Given the description of an element on the screen output the (x, y) to click on. 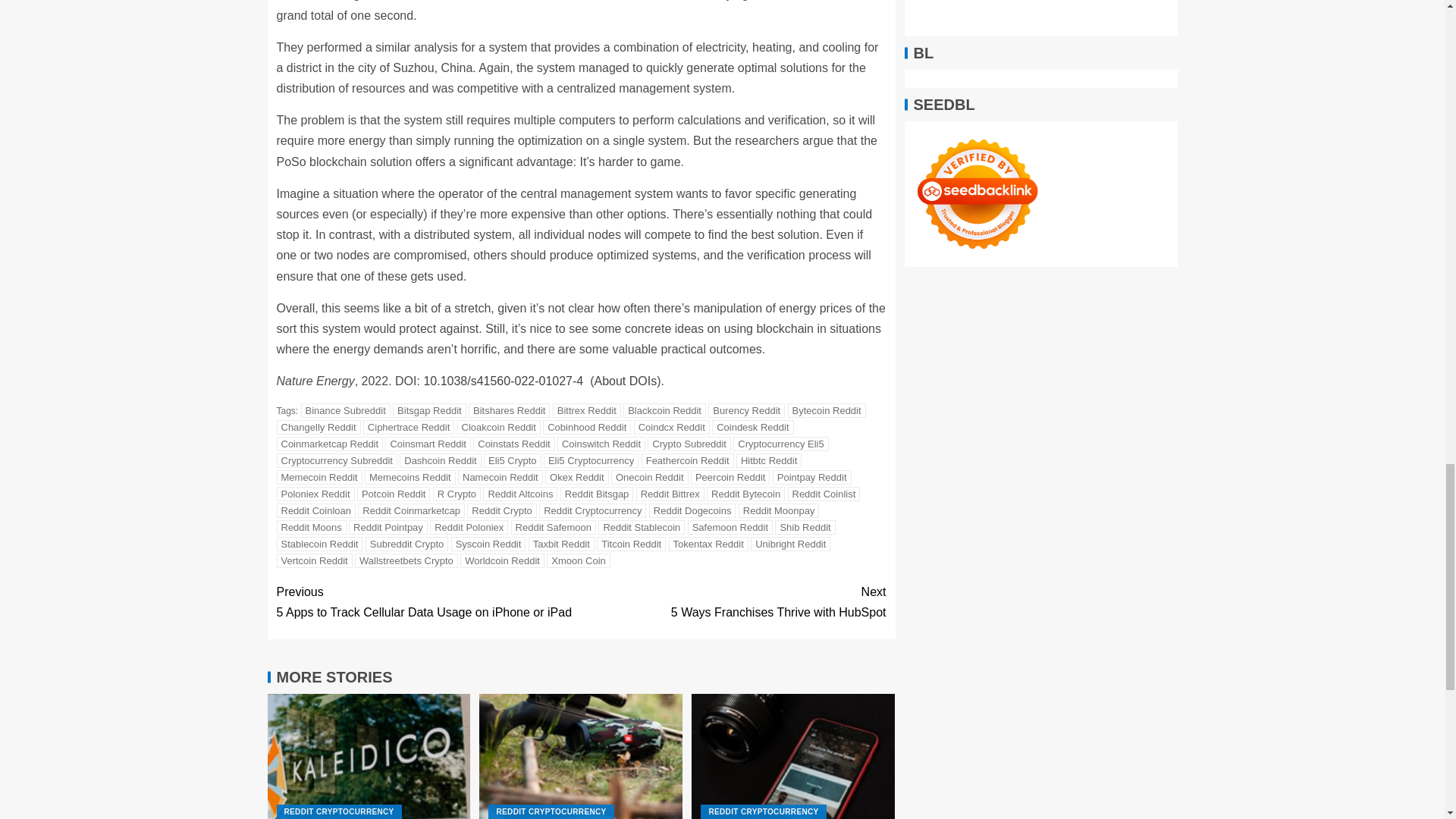
Bitshares Reddit (509, 410)
Getting Started With Crypto (580, 756)
Everything You Need to Know About Davenport Laroche (793, 756)
Binance Subreddit (345, 410)
Bitsgap Reddit (429, 410)
Blackcoin Reddit (664, 410)
Bittrex Reddit (587, 410)
Bytecoin Reddit (826, 410)
Changelly Reddit (317, 427)
Burency Reddit (745, 410)
About DOIs (625, 380)
Ciphertrace Reddit (408, 427)
